Given the description of an element on the screen output the (x, y) to click on. 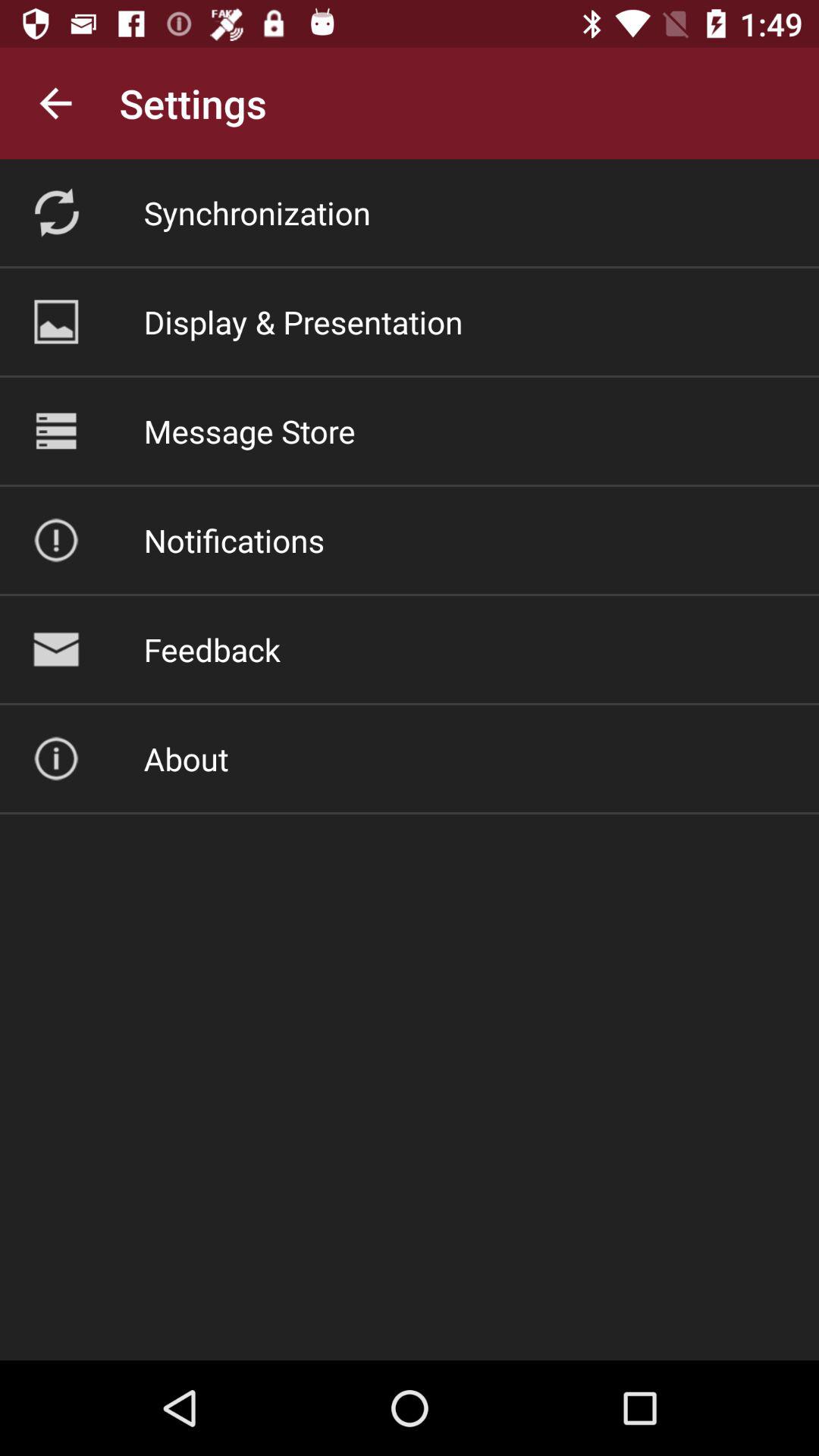
turn on item below settings item (256, 212)
